Given the description of an element on the screen output the (x, y) to click on. 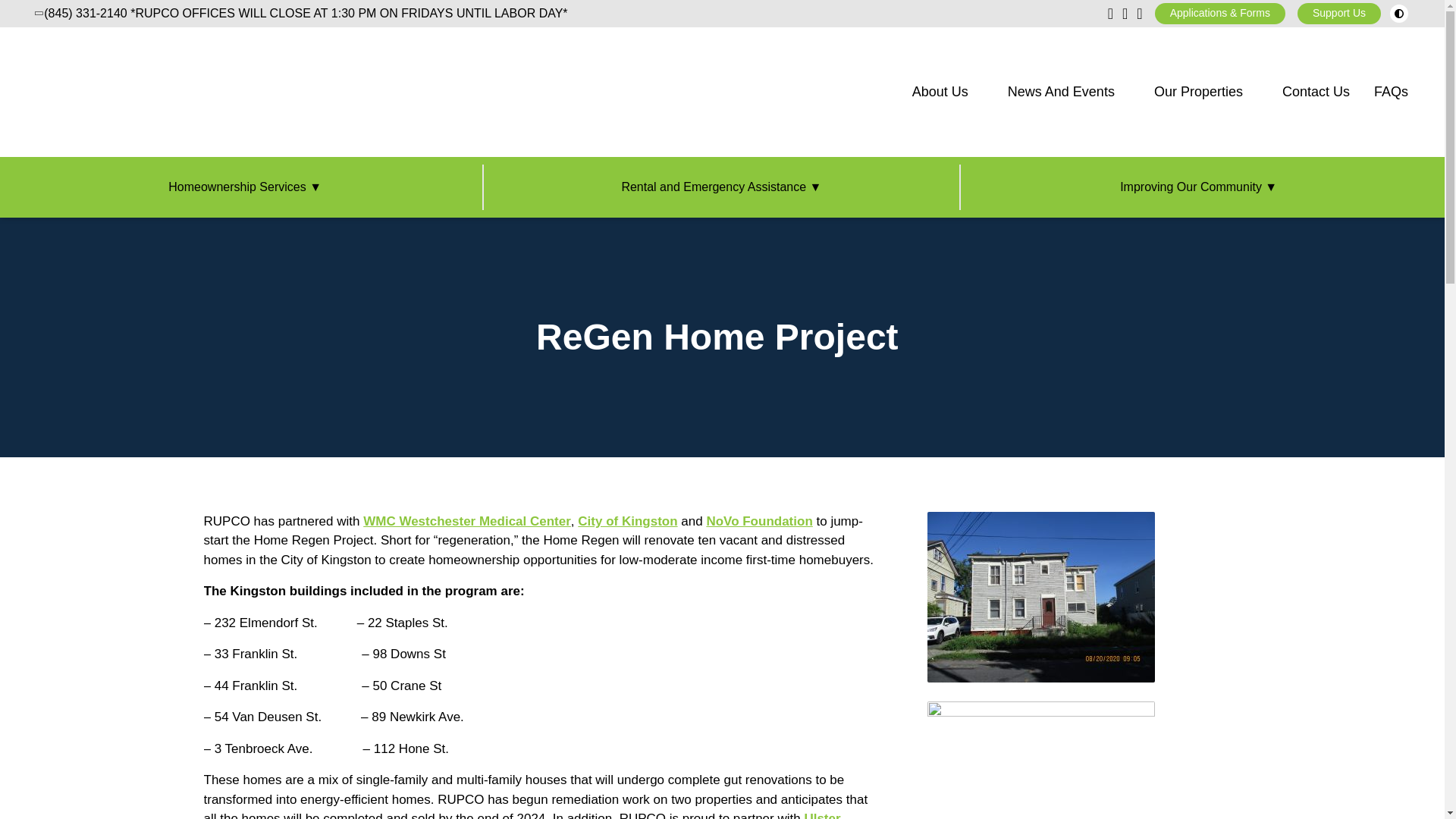
Support Us (1338, 13)
RUPCO (104, 91)
Toggle High Contrast Mode (1398, 13)
Contact Us (1315, 92)
Toggle High Contrast Mode (1398, 13)
Our Properties (1198, 92)
About Us (940, 92)
News And Events (1061, 92)
